Given the description of an element on the screen output the (x, y) to click on. 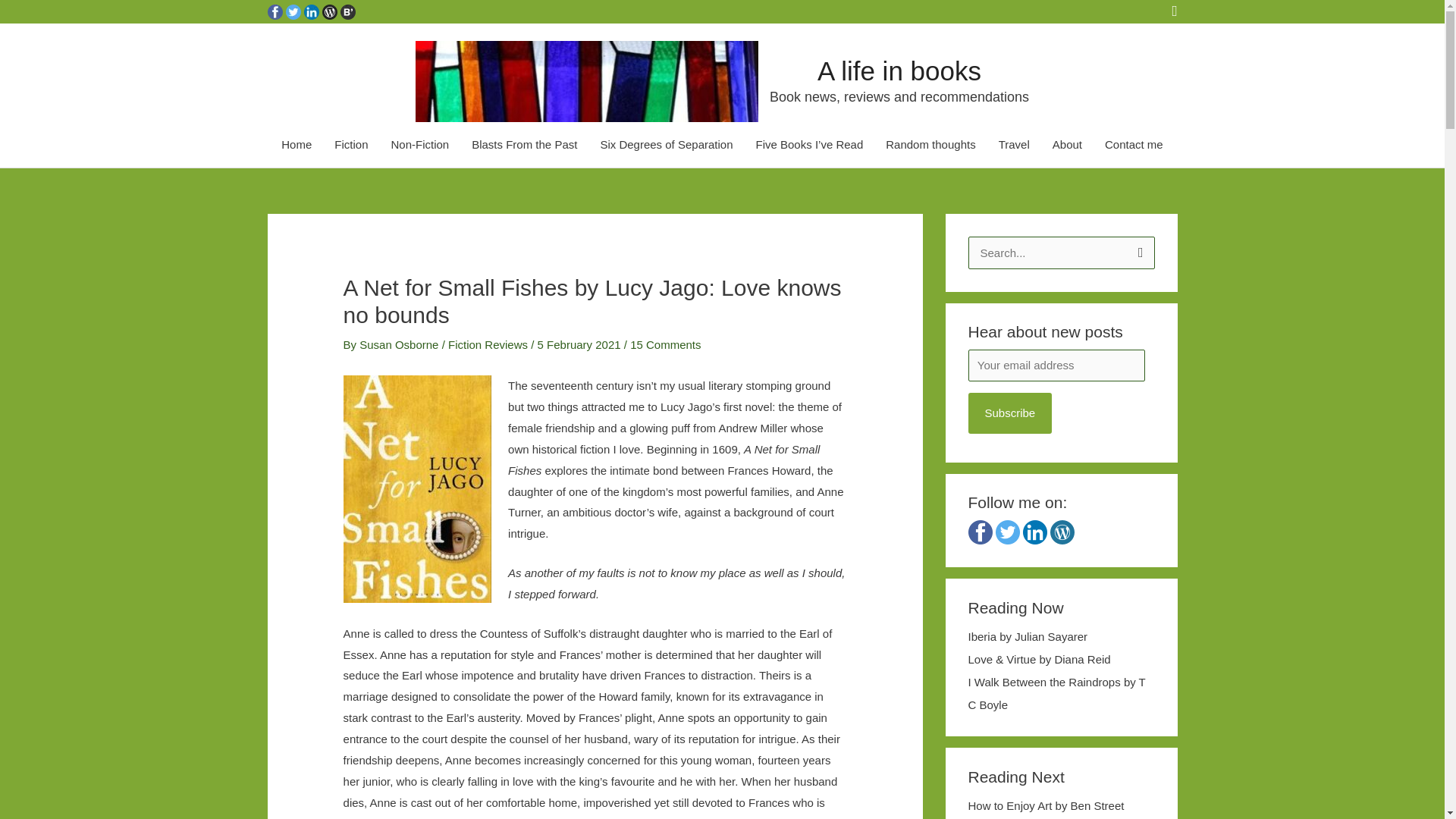
Blasts From the Past (524, 144)
Random thoughts (931, 144)
Fiction Reviews (487, 344)
About (1067, 144)
Six Degrees of Separation (666, 144)
A life in books (898, 70)
Follow Me on Twitter (293, 10)
Follow Me on LinkedIn (311, 10)
Home (296, 144)
Susan Osborne (400, 344)
